Given the description of an element on the screen output the (x, y) to click on. 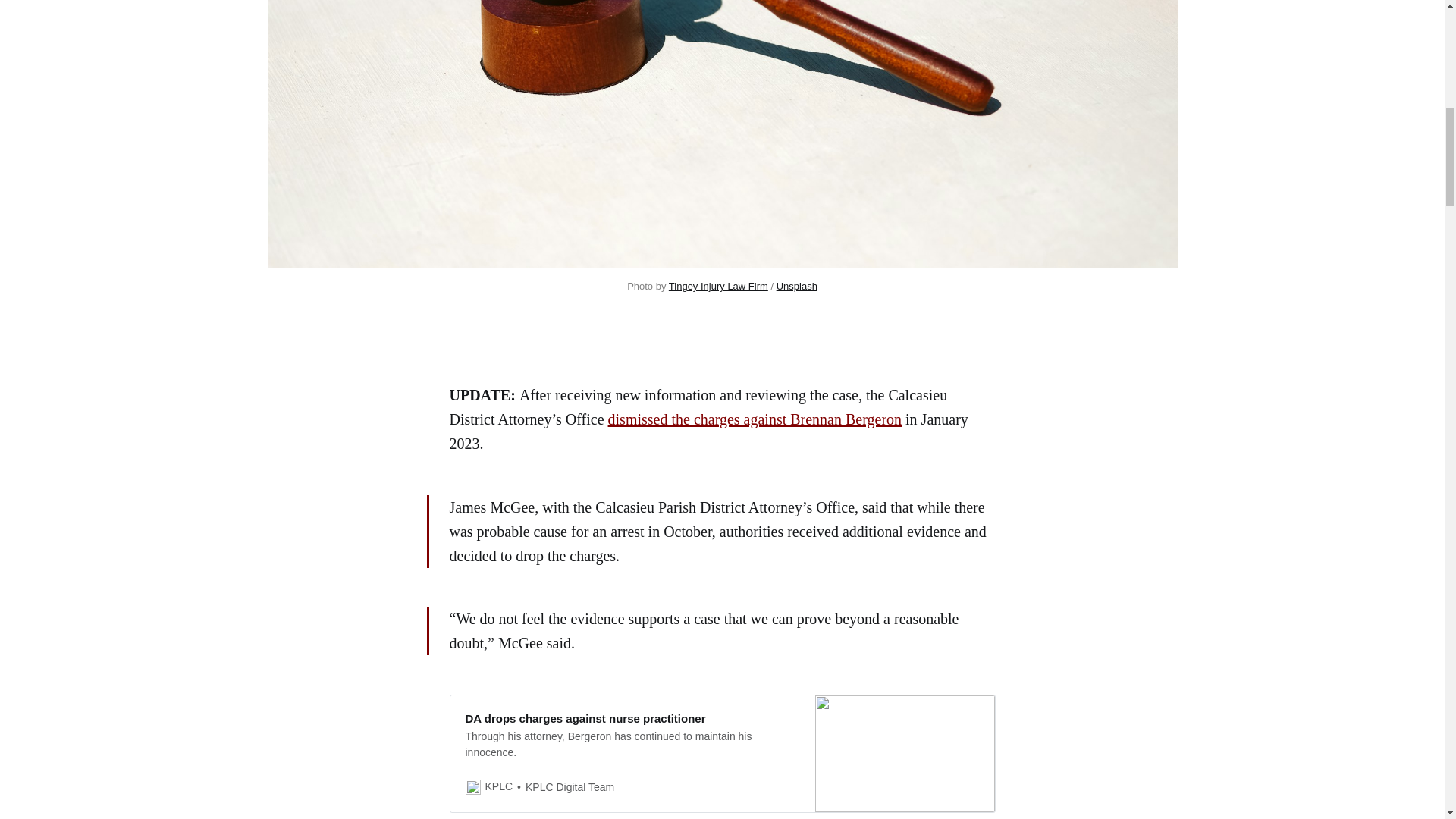
Unsplash (796, 285)
Tingey Injury Law Firm (718, 285)
dismissed the charges against Brennan Bergeron (755, 419)
